Given the description of an element on the screen output the (x, y) to click on. 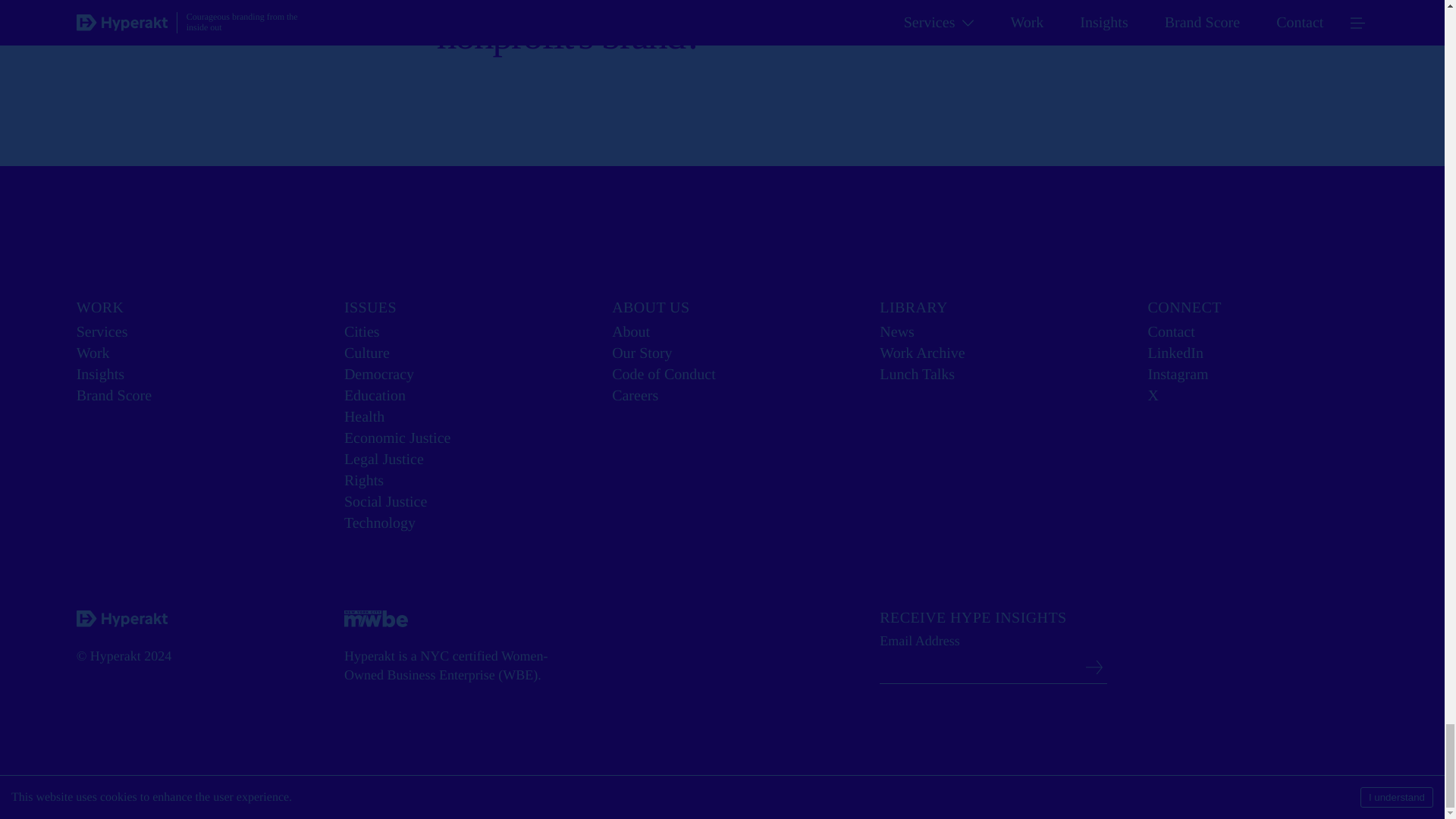
Reach Out (933, 7)
Hyperakt (122, 618)
